Given the description of an element on the screen output the (x, y) to click on. 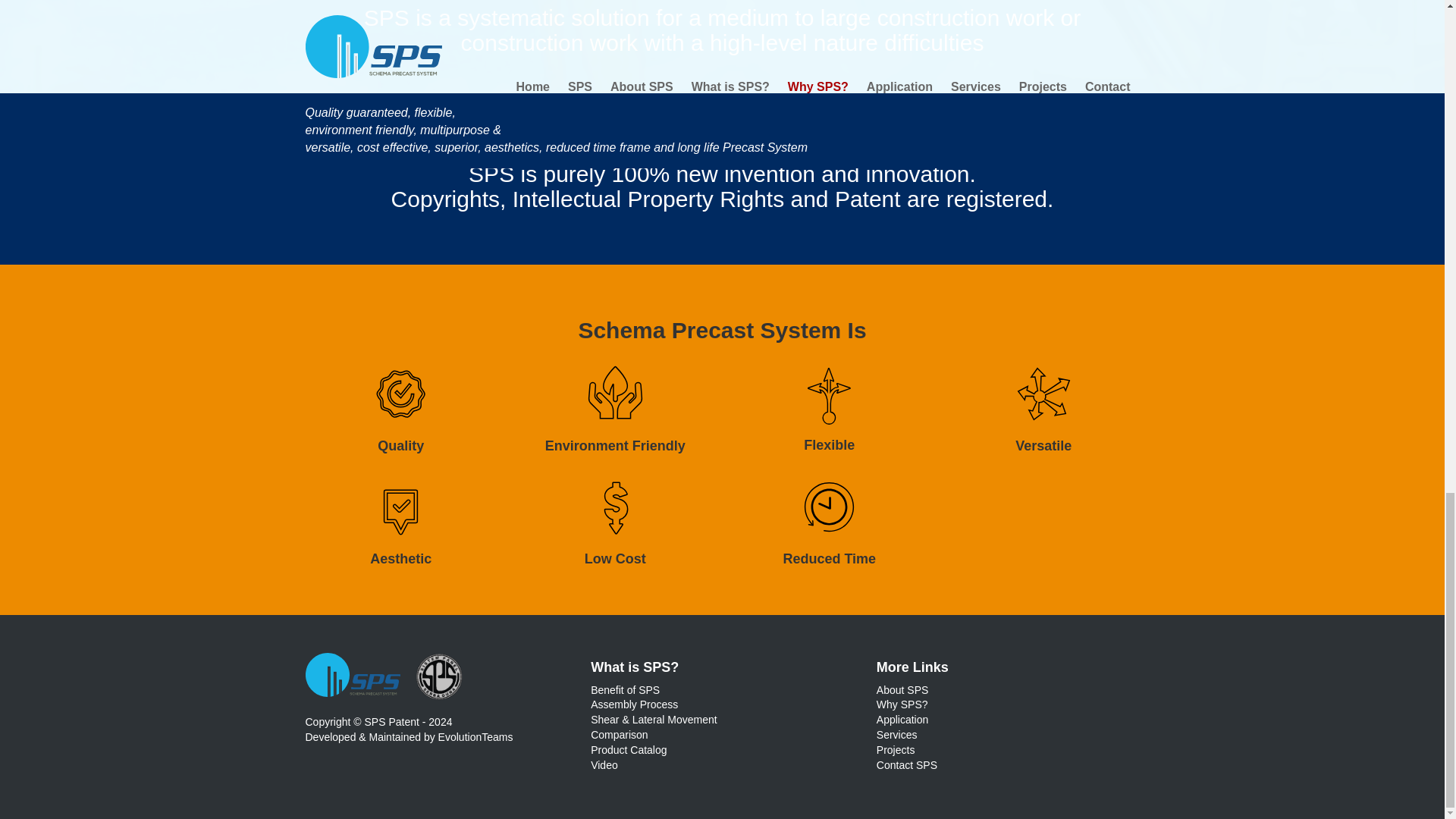
Projects (895, 749)
Services (896, 734)
Why SPS? (902, 704)
Video (604, 765)
Contact SPS (906, 765)
Assembly Process (634, 704)
Product Catalog (628, 749)
Application (902, 719)
Benefit of SPS (625, 689)
About SPS (902, 689)
